Given the description of an element on the screen output the (x, y) to click on. 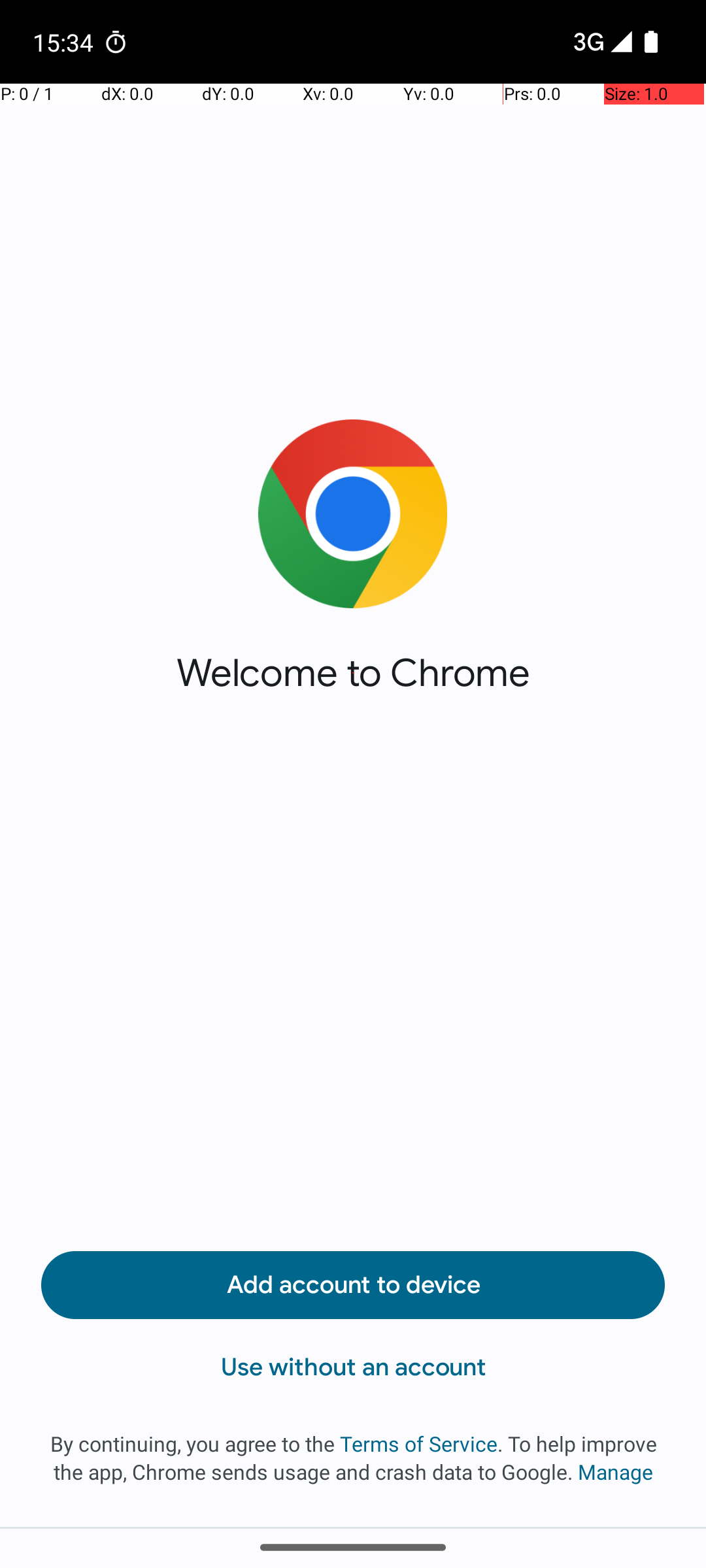
By continuing, you agree to the Terms of Service. To help improve the app, Chrome sends usage and crash data to Google. Manage Element type: android.widget.TextView (352, 1457)
Add account to device Element type: android.widget.Button (352, 1284)
Use without an account Element type: android.widget.Button (352, 1367)
